Given the description of an element on the screen output the (x, y) to click on. 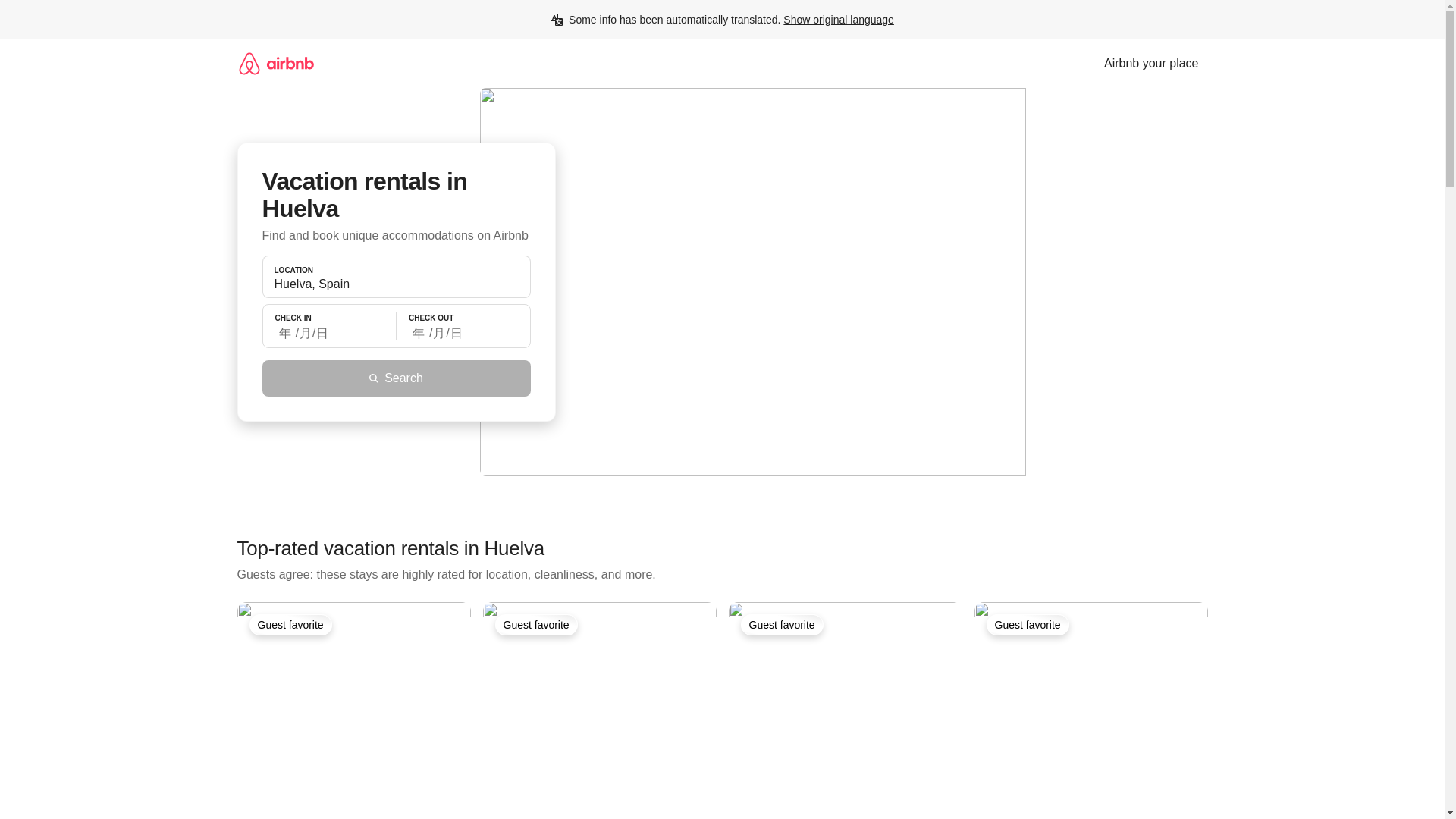
Search (396, 378)
Huelva, Spain (396, 283)
Airbnb your place (1151, 62)
Show original language (838, 19)
